Given the description of an element on the screen output the (x, y) to click on. 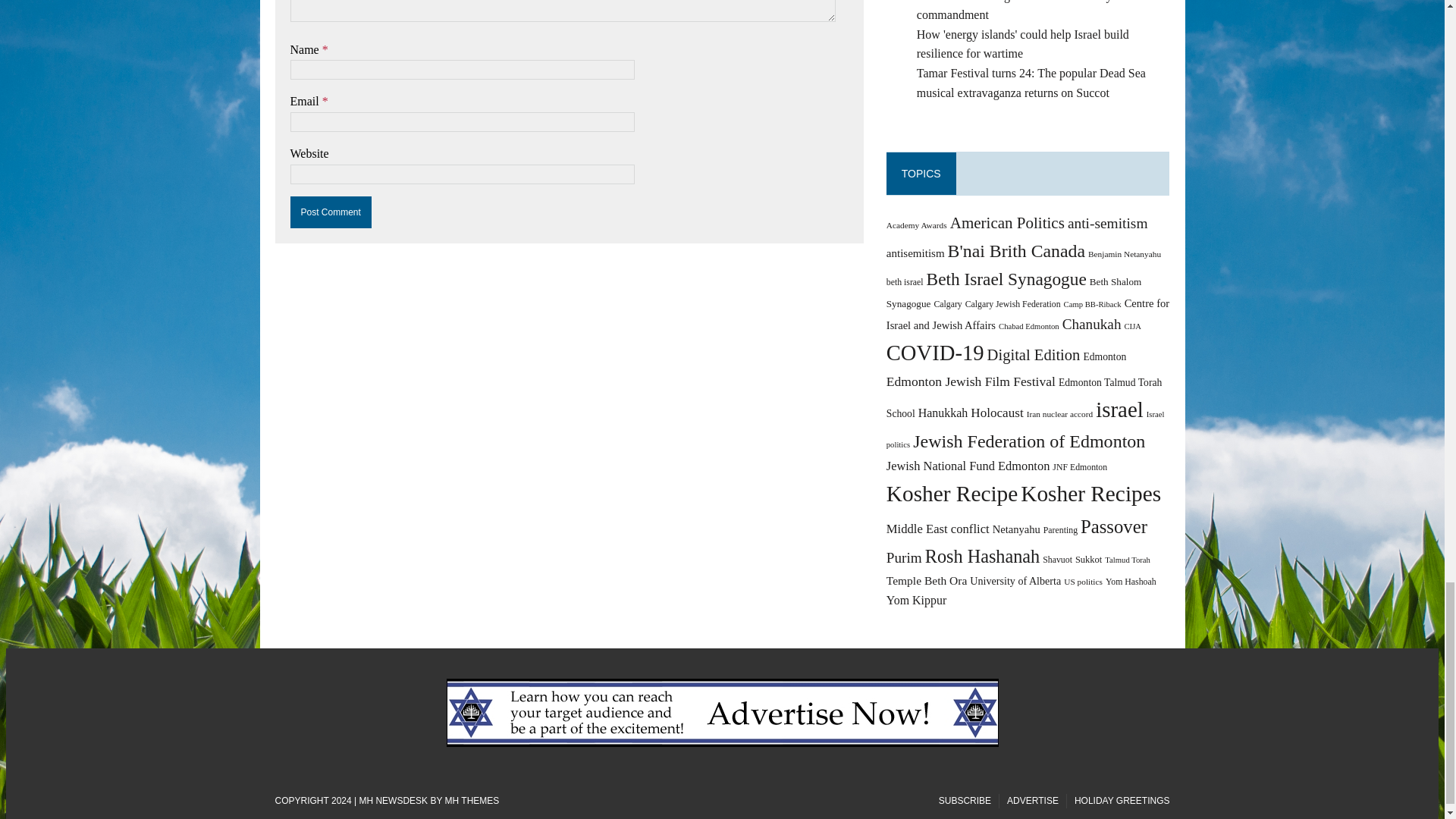
Post Comment (330, 212)
